Given the description of an element on the screen output the (x, y) to click on. 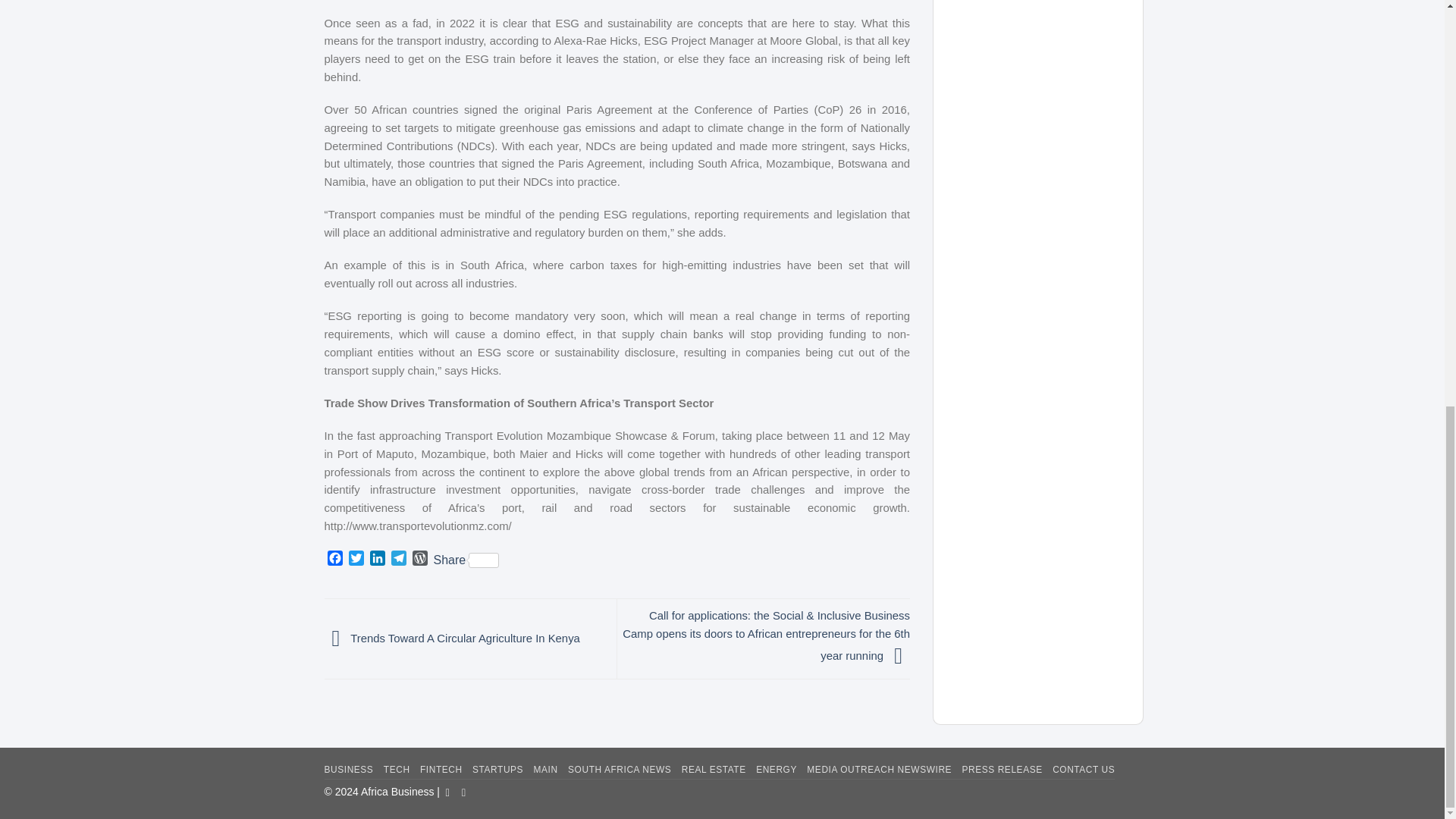
LinkedIn (377, 559)
LinkedIn (377, 559)
Trends Toward A Circular Agriculture In Kenya (451, 637)
Telegram (398, 559)
Share (466, 560)
Twitter (356, 559)
Twitter (356, 559)
TECH (397, 769)
Facebook (335, 559)
BUSINESS (349, 769)
WordPress (419, 559)
Telegram (398, 559)
WordPress (419, 559)
Facebook (335, 559)
